Given the description of an element on the screen output the (x, y) to click on. 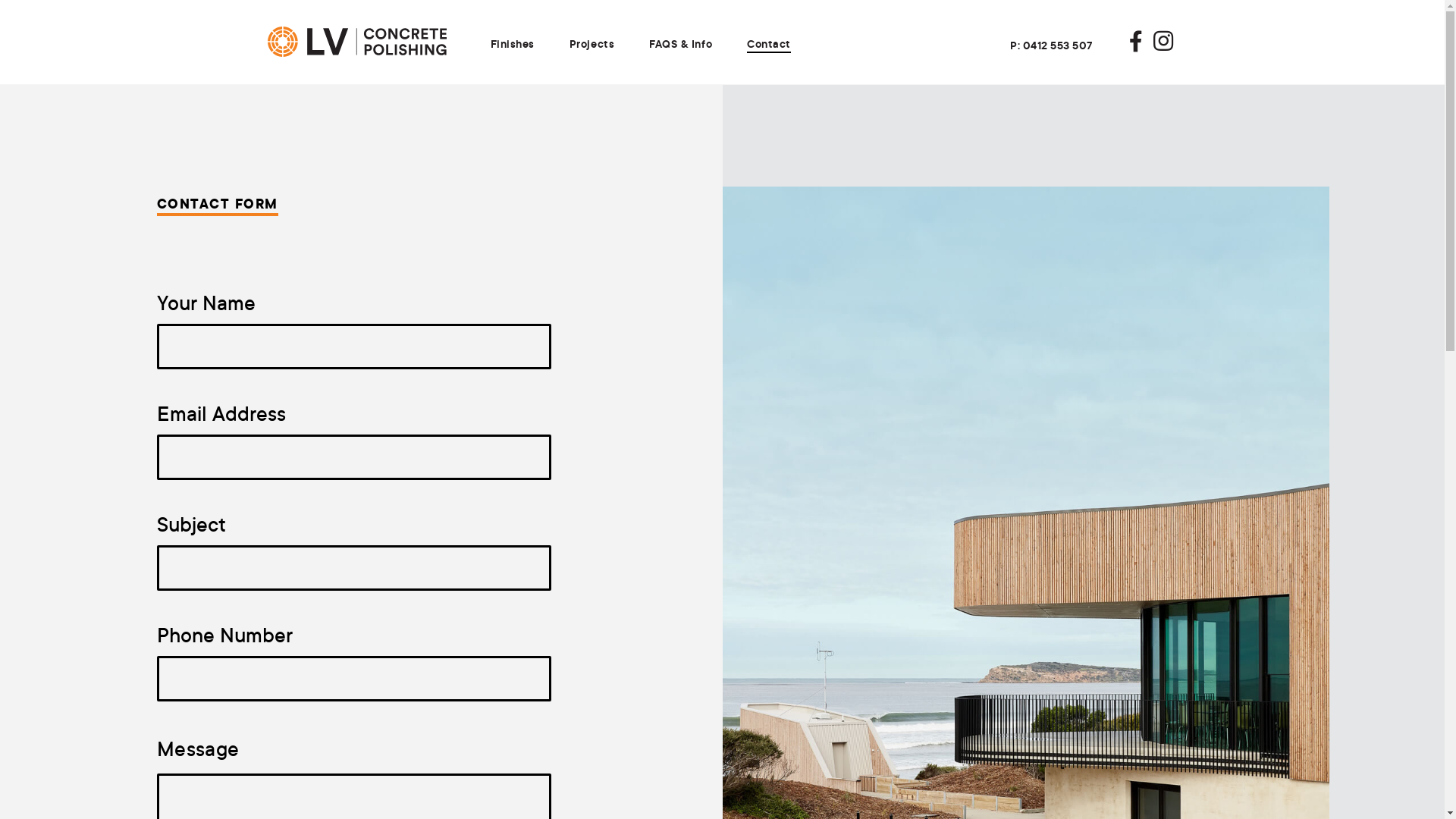
FAQS & Info Element type: text (680, 43)
LV Concrete Polishing Element type: hover (355, 39)
P: 0412 553 507 Element type: text (1051, 45)
Instagram Element type: hover (1163, 41)
Contact Element type: text (768, 44)
Finishes Element type: text (511, 43)
Facebook Element type: hover (1135, 41)
LV Concrete Polishing Element type: hover (355, 41)
Skip to content Element type: text (0, 80)
Projects Element type: text (591, 43)
